Given the description of an element on the screen output the (x, y) to click on. 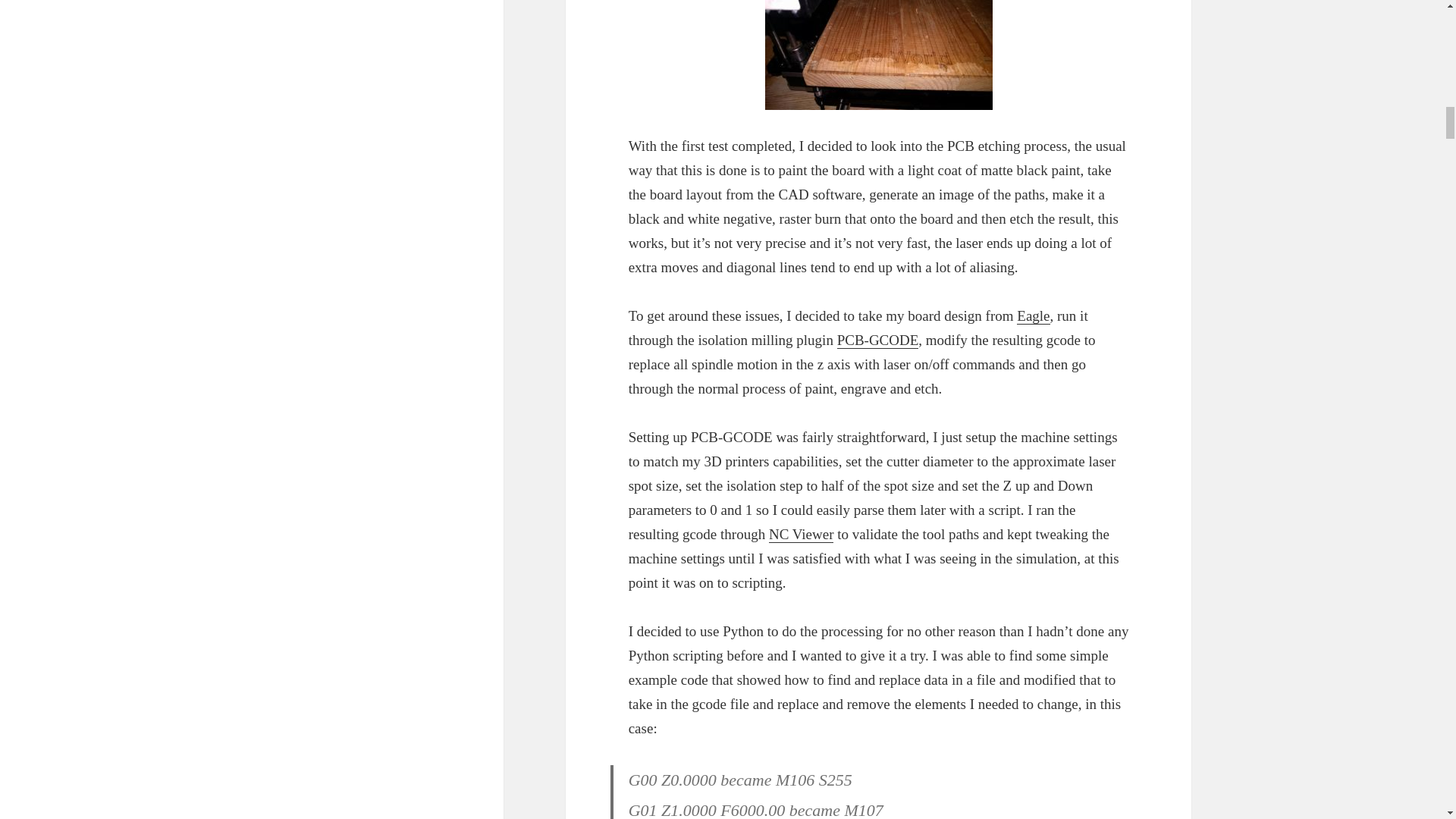
Eagle (1032, 315)
NC Viewer (801, 534)
PCB-GCODE (877, 340)
